Given the description of an element on the screen output the (x, y) to click on. 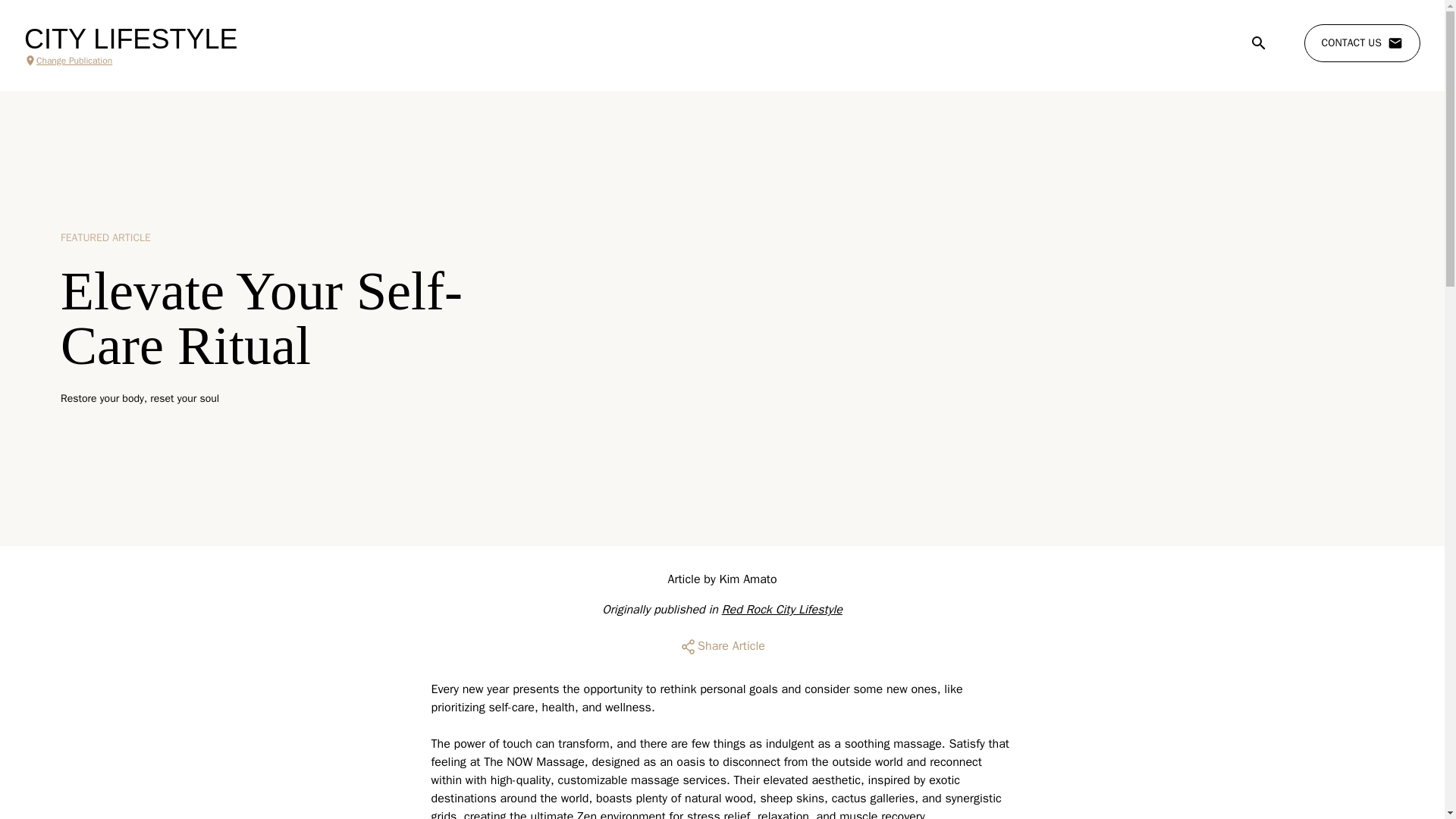
Change Publication (130, 60)
CITY LIFESTYLE (130, 39)
Share Article (722, 646)
Red Rock City Lifestyle (782, 609)
CONTACT US (1362, 43)
